Given the description of an element on the screen output the (x, y) to click on. 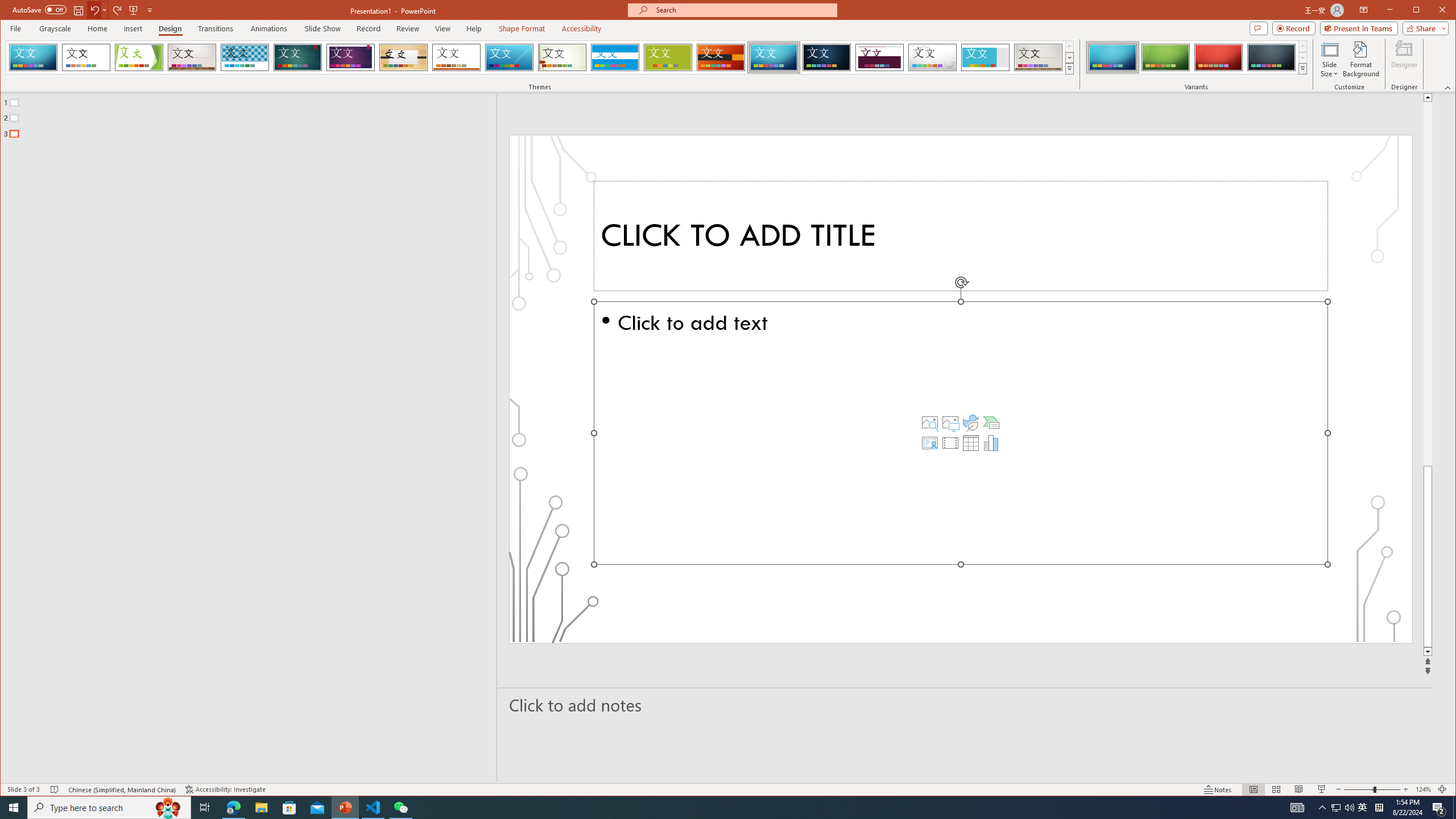
Insert Chart (991, 443)
AutomationID: ThemeVariantsGallery (1196, 57)
Format Background (1360, 59)
Insert Cameo (929, 443)
Circuit Variant 2 (1165, 57)
Circuit Variant 3 (1218, 57)
Banded (615, 57)
